Given the description of an element on the screen output the (x, y) to click on. 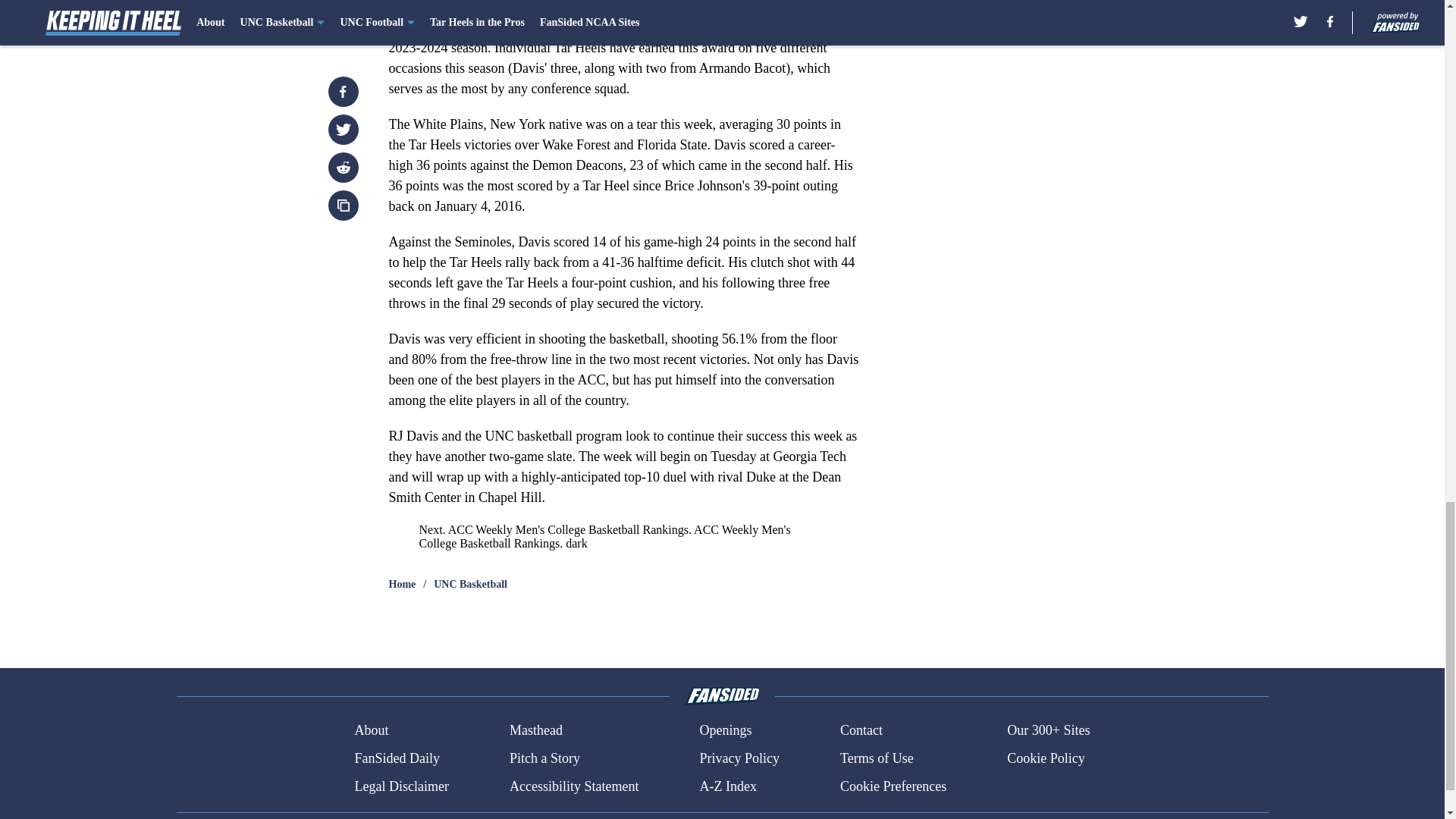
Masthead (535, 730)
Accessibility Statement (574, 786)
Cookie Preferences (893, 786)
Terms of Use (877, 758)
Openings (724, 730)
Pitch a Story (544, 758)
FanSided Daily (396, 758)
About (370, 730)
Legal Disclaimer (400, 786)
Cookie Policy (1045, 758)
Privacy Policy (738, 758)
A-Z Index (726, 786)
UNC Basketball (469, 584)
Contact (861, 730)
Home (401, 584)
